Given the description of an element on the screen output the (x, y) to click on. 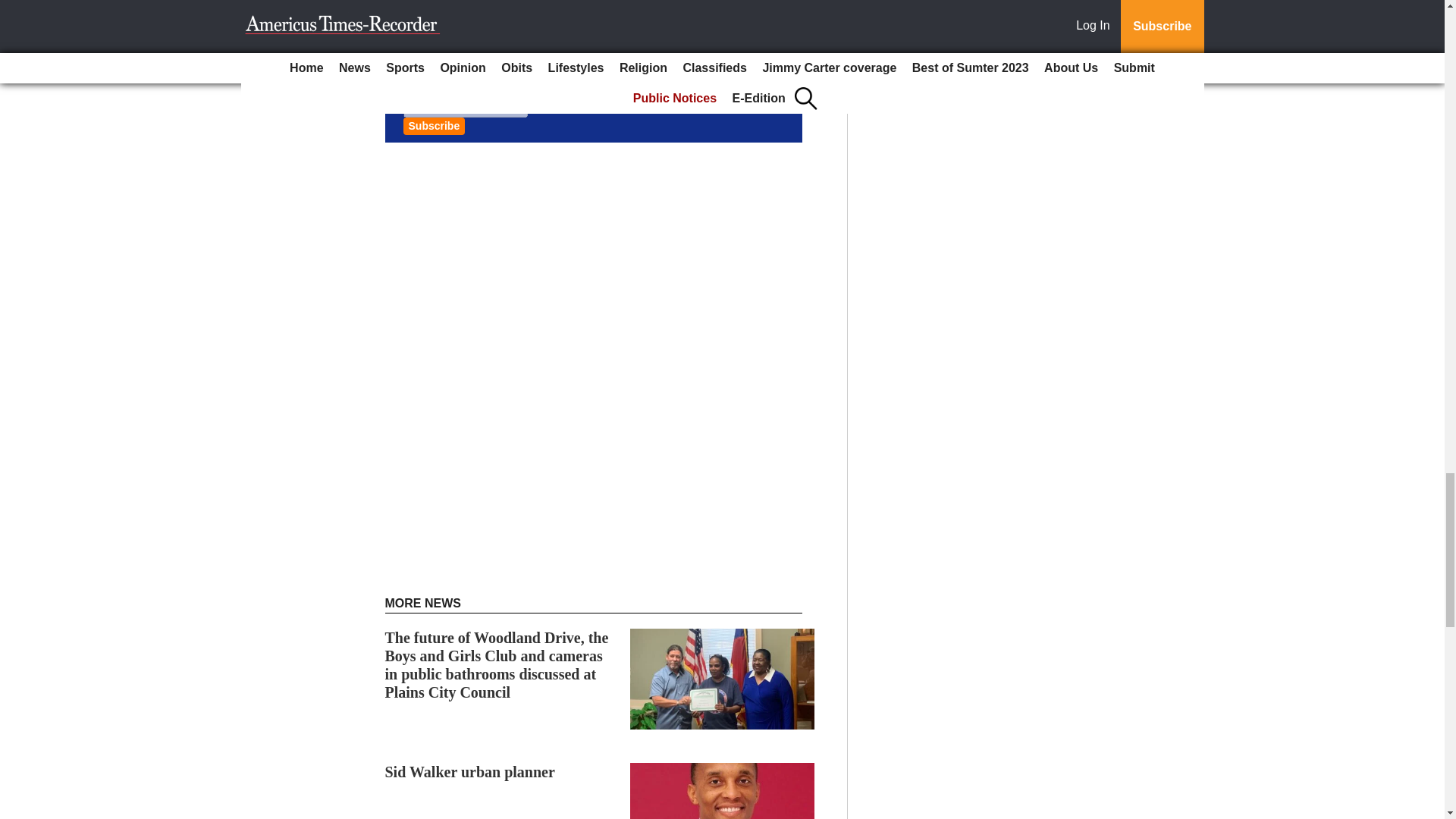
Subscribe (434, 126)
Subscribe (434, 126)
Sid Walker urban planner (469, 771)
Sid Walker urban planner (469, 771)
